Given the description of an element on the screen output the (x, y) to click on. 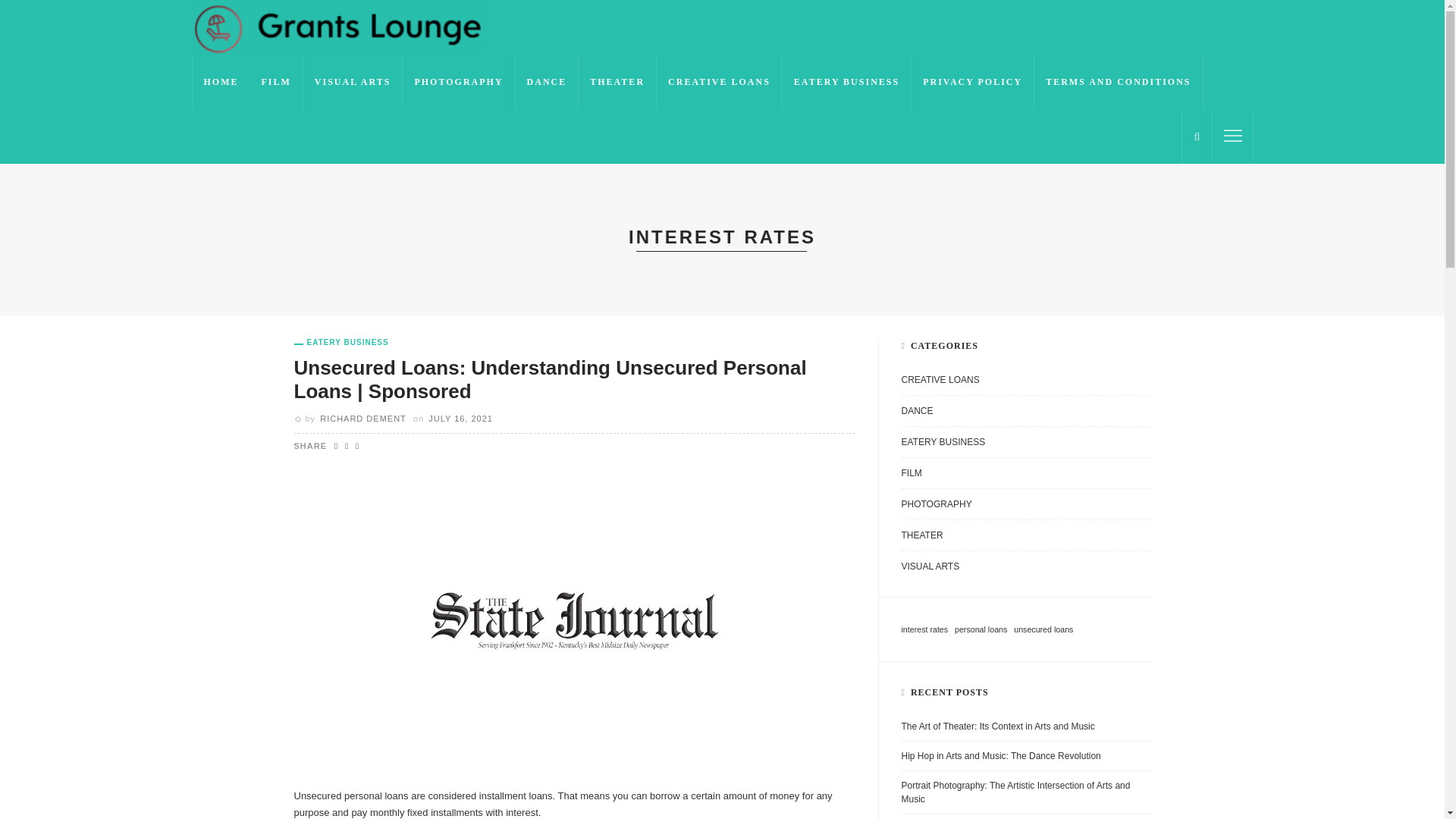
PHOTOGRAPHY (1025, 508)
CREATIVE LOANS (719, 81)
TERMS AND CONDITIONS (1117, 81)
Grants Lounge (335, 26)
Eatery Business (341, 342)
CREATIVE LOANS (1025, 383)
RICHARD DEMENT (363, 418)
FILM (1025, 477)
EATERY BUSINESS (341, 342)
DANCE (1025, 414)
FILM (276, 81)
HOME (219, 81)
DANCE (547, 81)
PRIVACY POLICY (972, 81)
EATERY BUSINESS (847, 81)
